Given the description of an element on the screen output the (x, y) to click on. 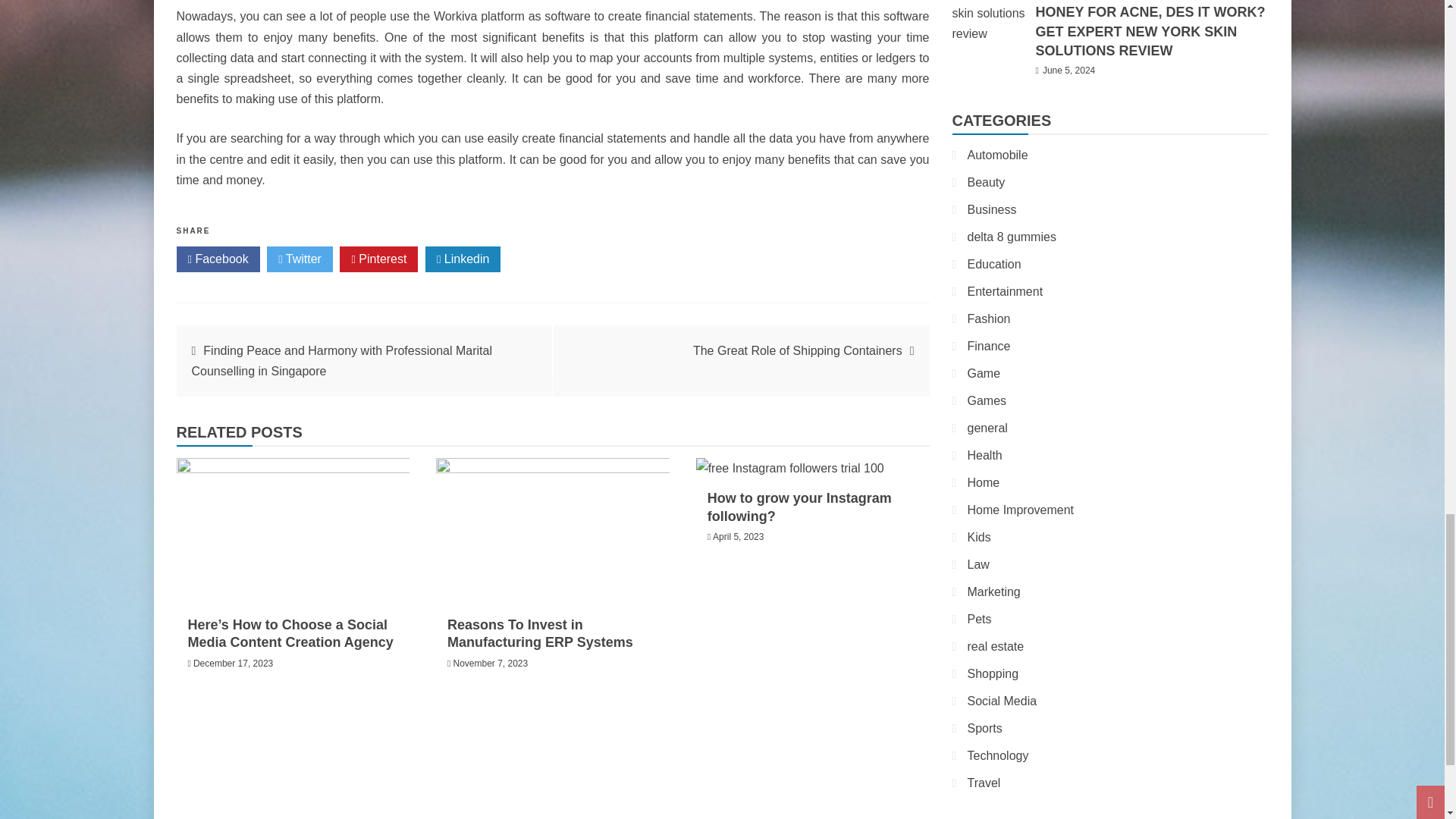
Pinterest (378, 258)
How to grow your Instagram following? (799, 506)
April 5, 2023 (737, 536)
December 17, 2023 (233, 663)
Reasons To Invest in Manufacturing ERP Systems (539, 633)
Linkedin (462, 258)
Twitter (299, 258)
November 7, 2023 (489, 663)
Facebook (217, 258)
The Great Role of Shipping Containers (797, 350)
